Given the description of an element on the screen output the (x, y) to click on. 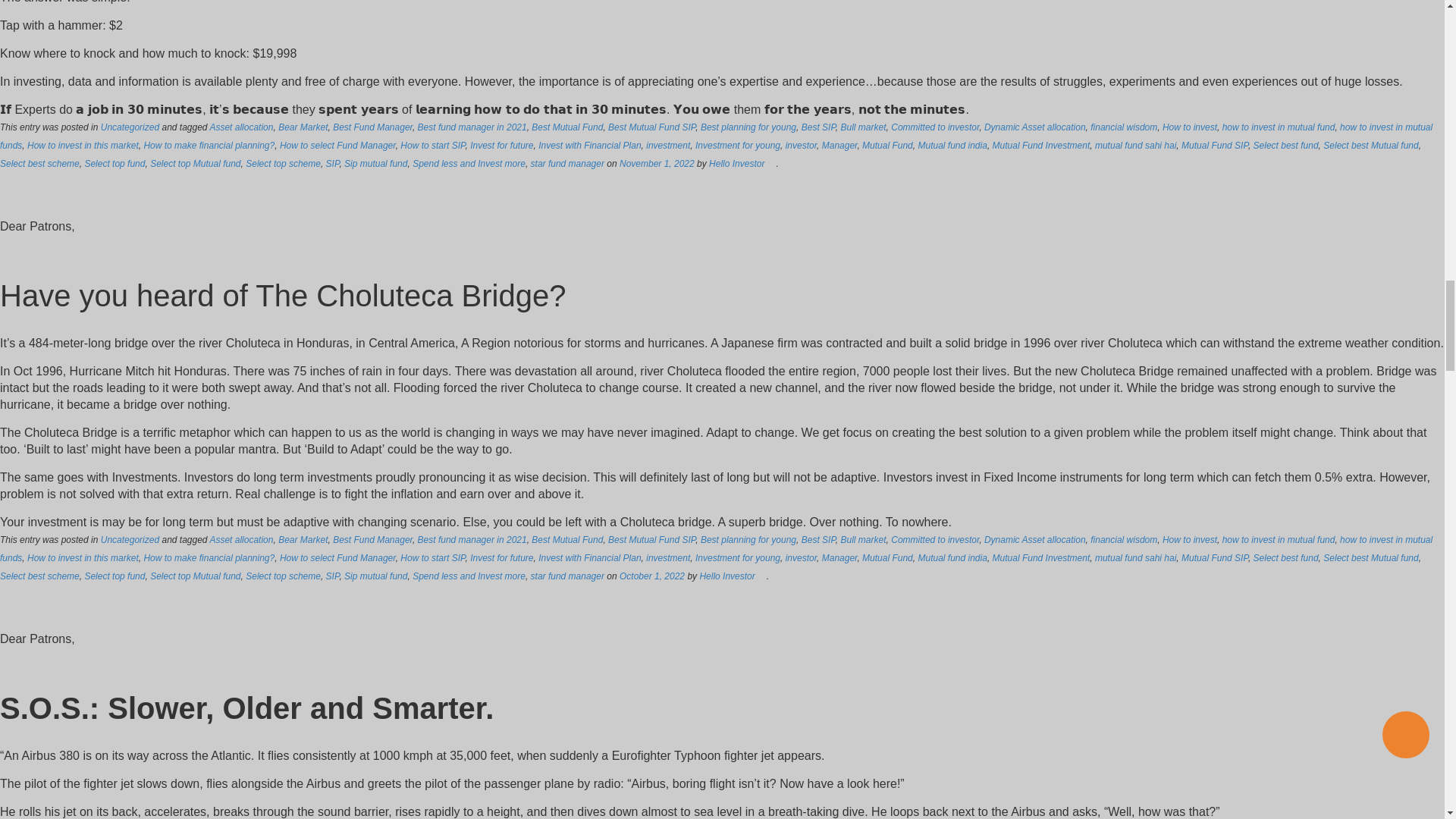
8:06 am (657, 163)
View all posts by Hello Investor (726, 575)
View all posts by Hello Investor (736, 163)
8:31 am (652, 575)
